Given the description of an element on the screen output the (x, y) to click on. 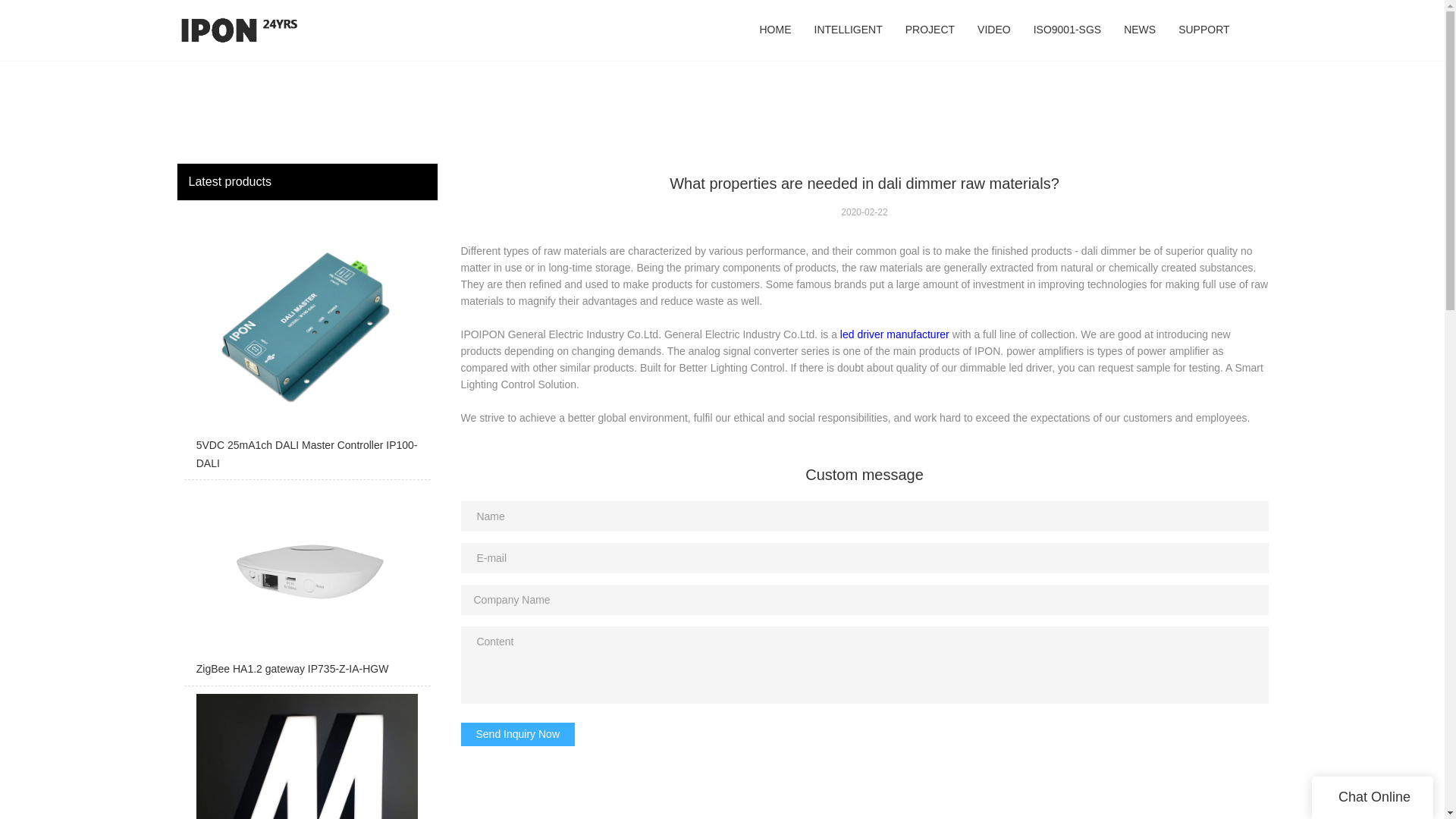
SUPPORT (1203, 30)
Send Inquiry Now (518, 733)
HOME (775, 30)
INTELLIGENT (847, 30)
5VDC 25mA1ch DALI Master Controller IP100-DALI (306, 343)
ZigBee HA1.2 gateway IP735-Z-IA-HGW (306, 586)
SLIM NEON TUBE FLOOR OR WALL LAMP IN FULL COLOURS H:1370MM (306, 756)
NEWS (1139, 30)
VIDEO (994, 30)
ISO9001-SGS (1067, 30)
